Given the description of an element on the screen output the (x, y) to click on. 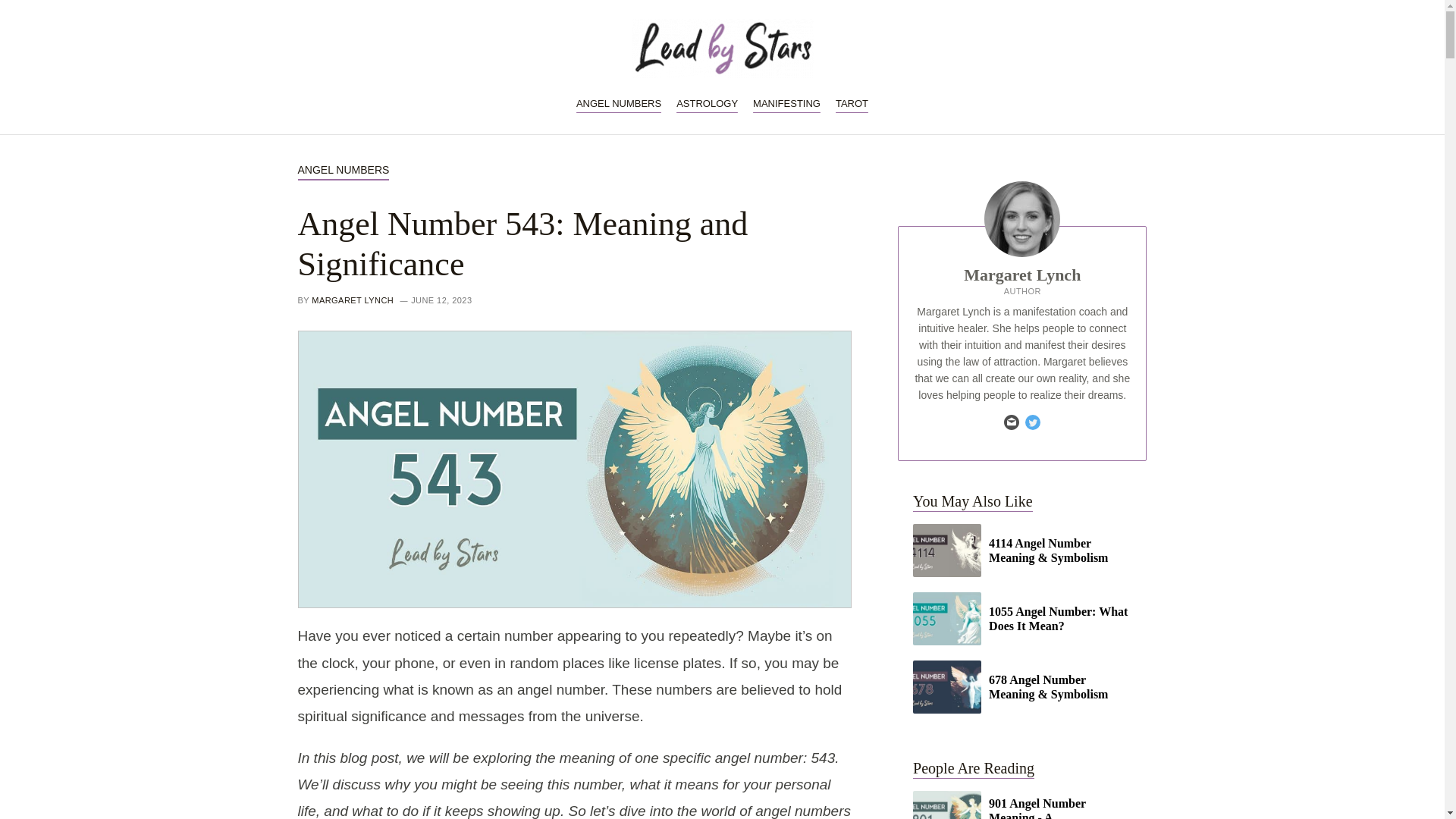
ANGEL NUMBERS (618, 103)
901 Angel Number Meaning - A Comprehensive Guide (1021, 805)
ANGEL NUMBERS (342, 170)
MARGARET LYNCH (352, 299)
ASTROLOGY (707, 103)
MANIFESTING (786, 103)
1055 Angel Number: What Does It Mean? (1021, 617)
Margaret Lynch (1021, 274)
TAROT (851, 103)
